Given the description of an element on the screen output the (x, y) to click on. 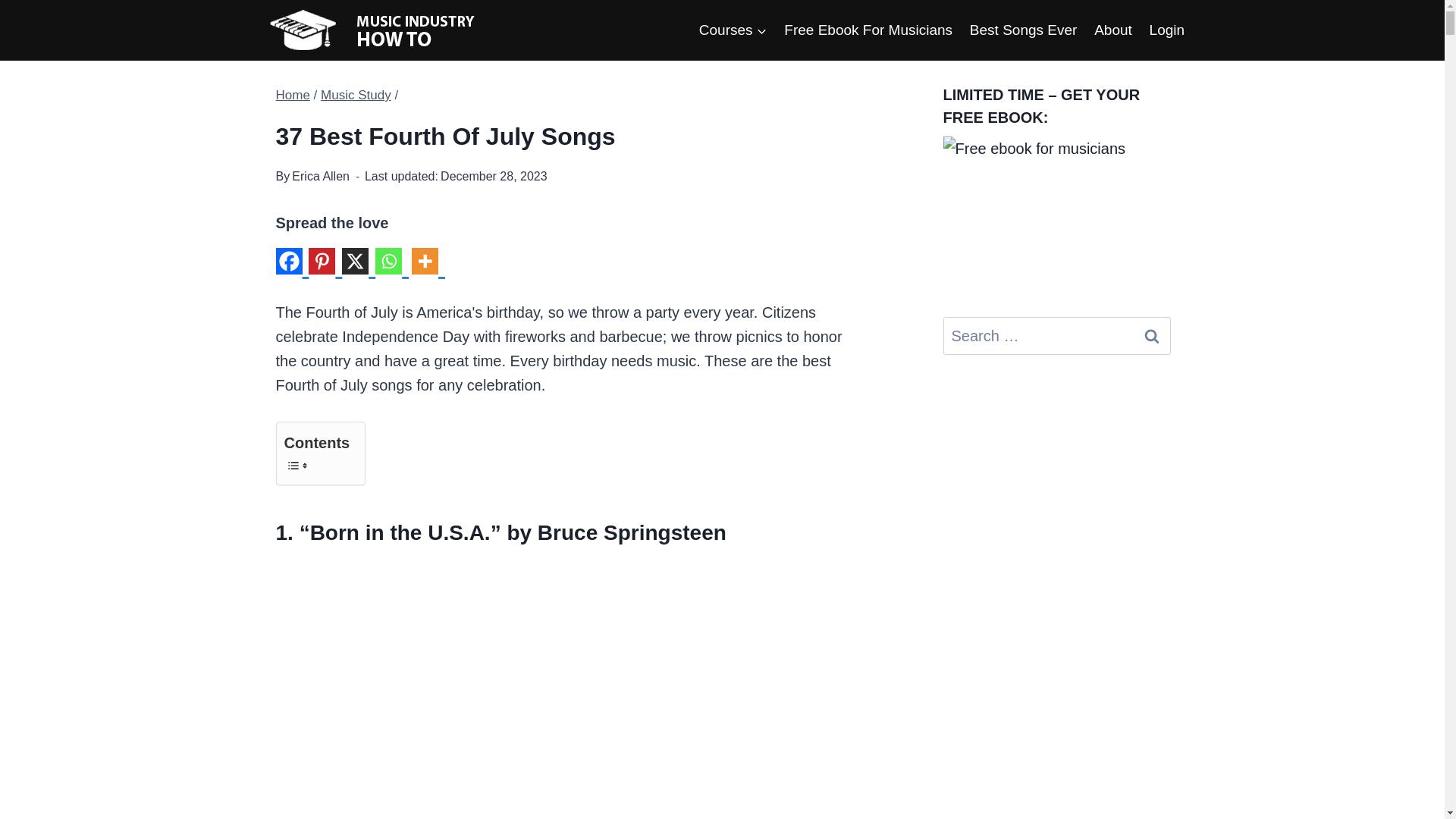
Search (1151, 335)
Free Ebook For Musicians (868, 29)
Music Study (355, 94)
Search (1151, 335)
About (1113, 29)
Home (293, 94)
More (428, 267)
Login (1166, 29)
Best Songs Ever (1022, 29)
